Given the description of an element on the screen output the (x, y) to click on. 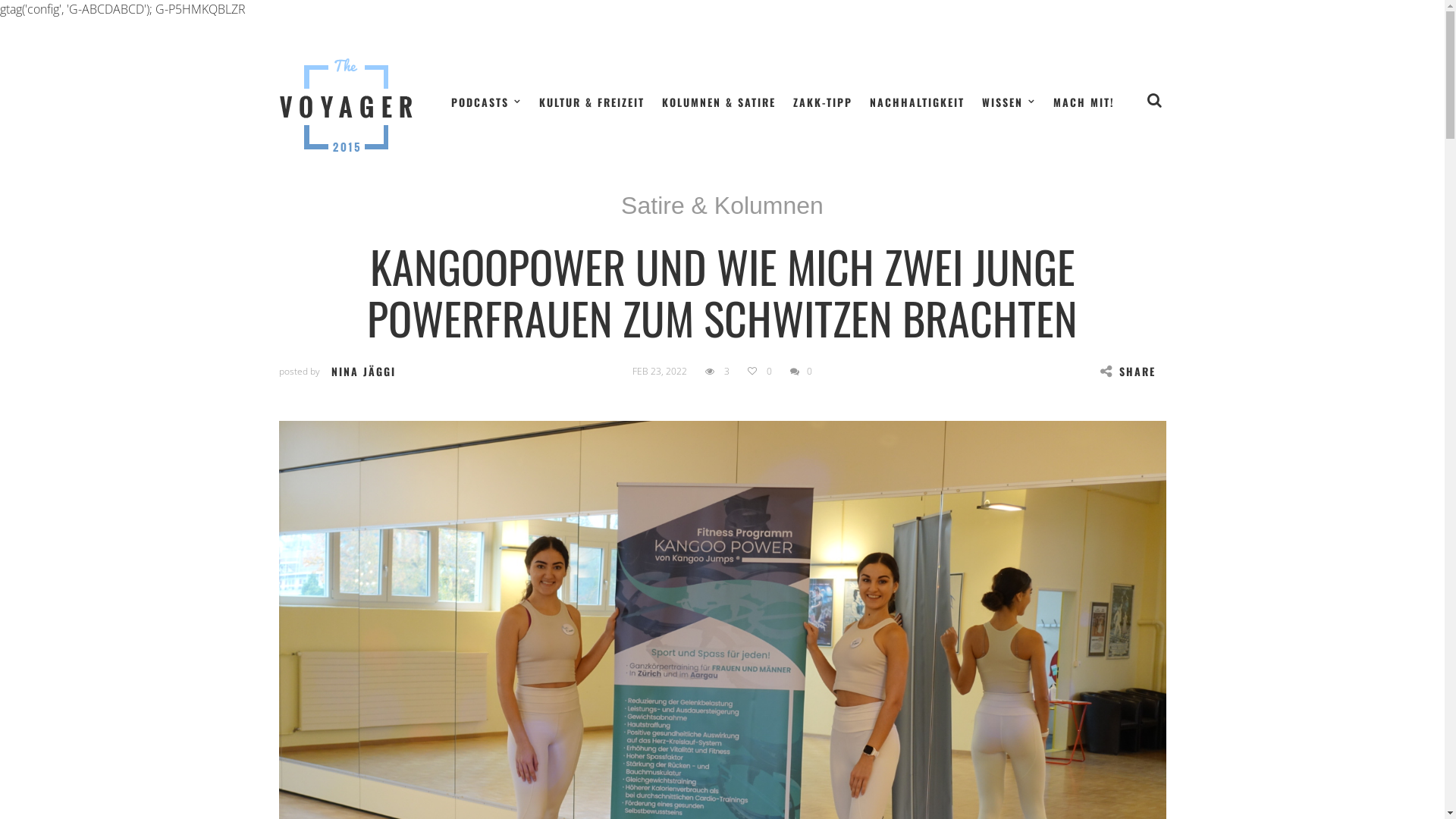
MACH MIT! Element type: text (1082, 102)
KOLUMNEN & SATIRE Element type: text (718, 102)
SHARE Element type: text (1126, 371)
ZAKK-TIPP Element type: text (822, 102)
PODCASTS Element type: text (485, 102)
KULTUR & FREIZEIT Element type: text (590, 102)
NACHHALTIGKEIT Element type: text (916, 102)
Satire & Kolumnen Element type: text (722, 205)
WISSEN Element type: text (1008, 102)
